Given the description of an element on the screen output the (x, y) to click on. 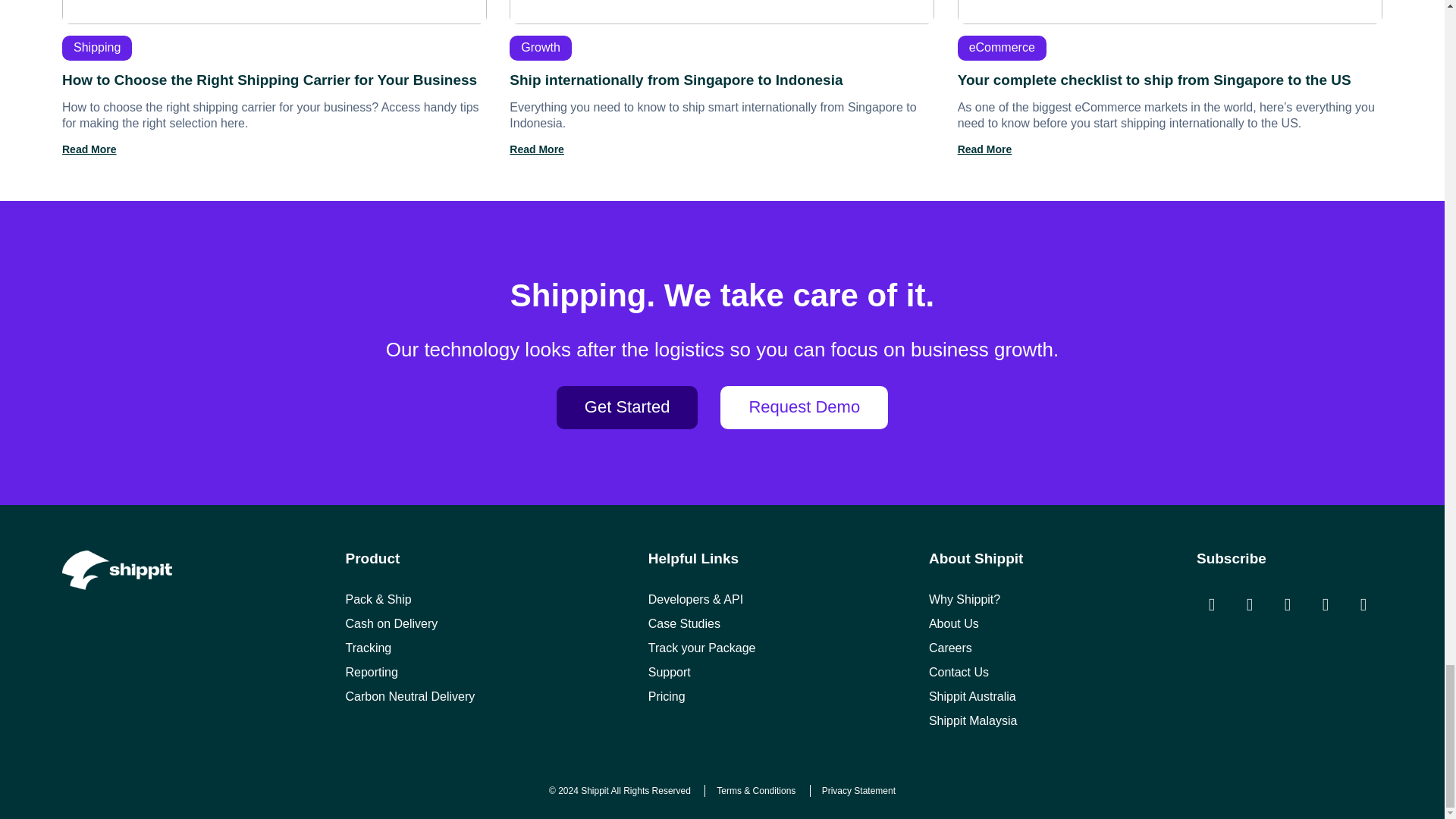
Your complete checklist to ship from Singapore to the US (1169, 77)
Visit us on Instragram (1211, 604)
Visit us on Twitter (1287, 604)
Ship internationally from Singapore to Indonesia (721, 77)
How to Choose the Right Shipping Carrier for Your Business (274, 77)
Visit us on LinkedIn (1325, 604)
Visit us on Facebook (1249, 604)
